Given the description of an element on the screen output the (x, y) to click on. 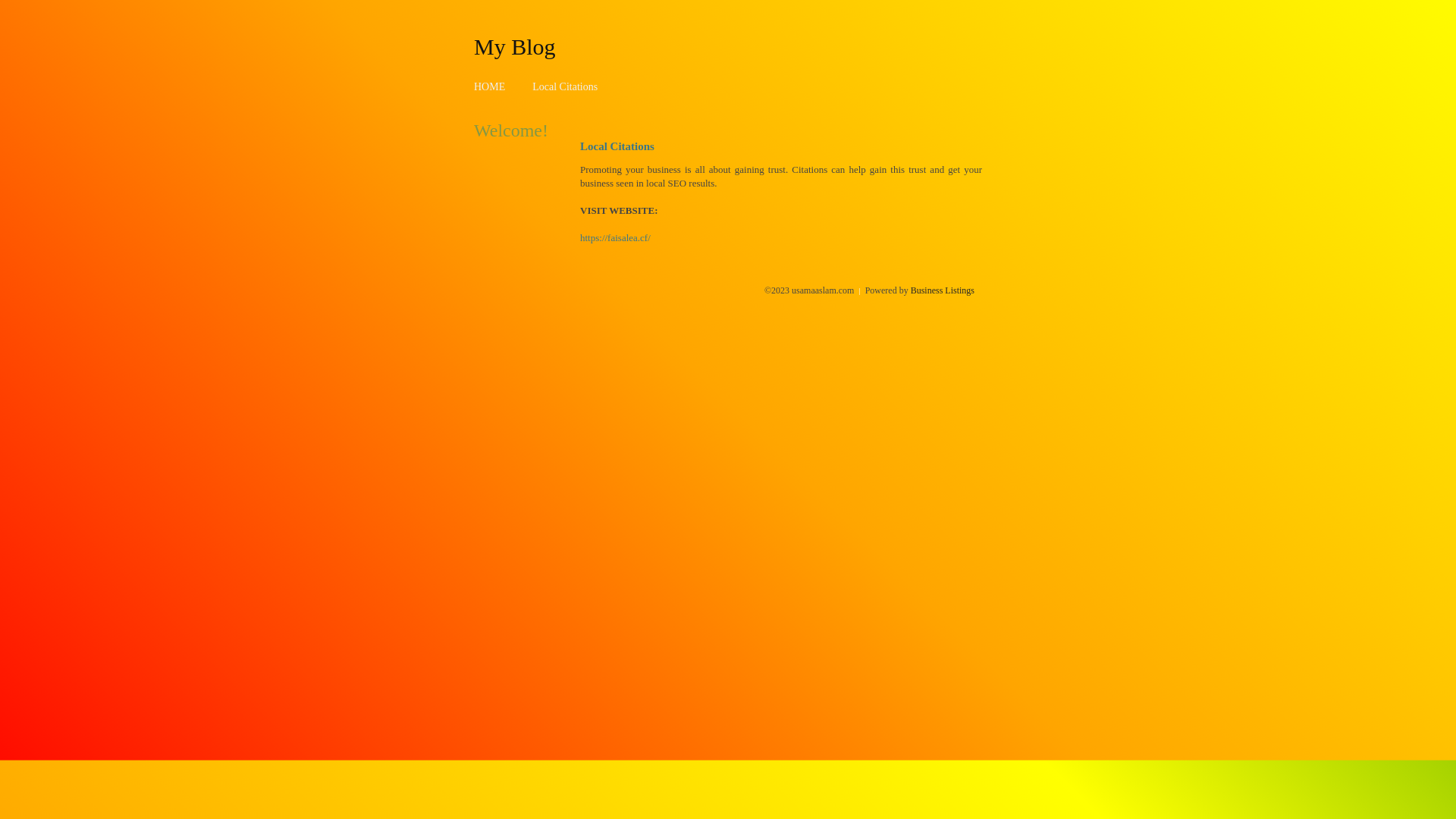
Local Citations Element type: text (564, 86)
https://faisalea.cf/ Element type: text (615, 237)
HOME Element type: text (489, 86)
My Blog Element type: text (514, 46)
Business Listings Element type: text (942, 290)
